Given the description of an element on the screen output the (x, y) to click on. 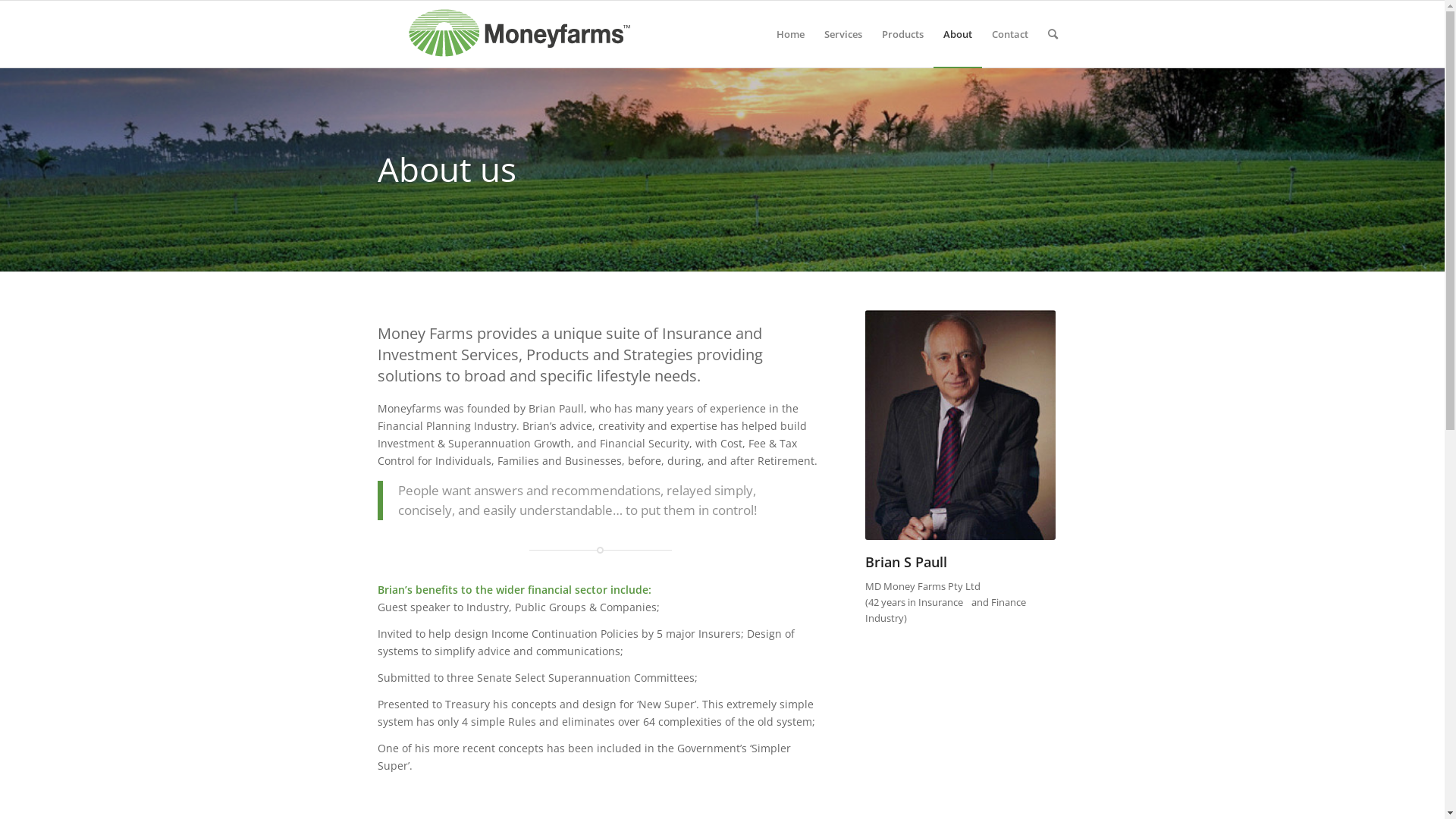
About Element type: text (956, 33)
Products Element type: text (902, 33)
Home Element type: text (789, 33)
Contact Element type: text (1009, 33)
mf_logo2015 Element type: hover (521, 32)
Services Element type: text (843, 33)
mf_logo2015 Element type: hover (521, 33)
brian_paull Element type: hover (960, 424)
